Given the description of an element on the screen output the (x, y) to click on. 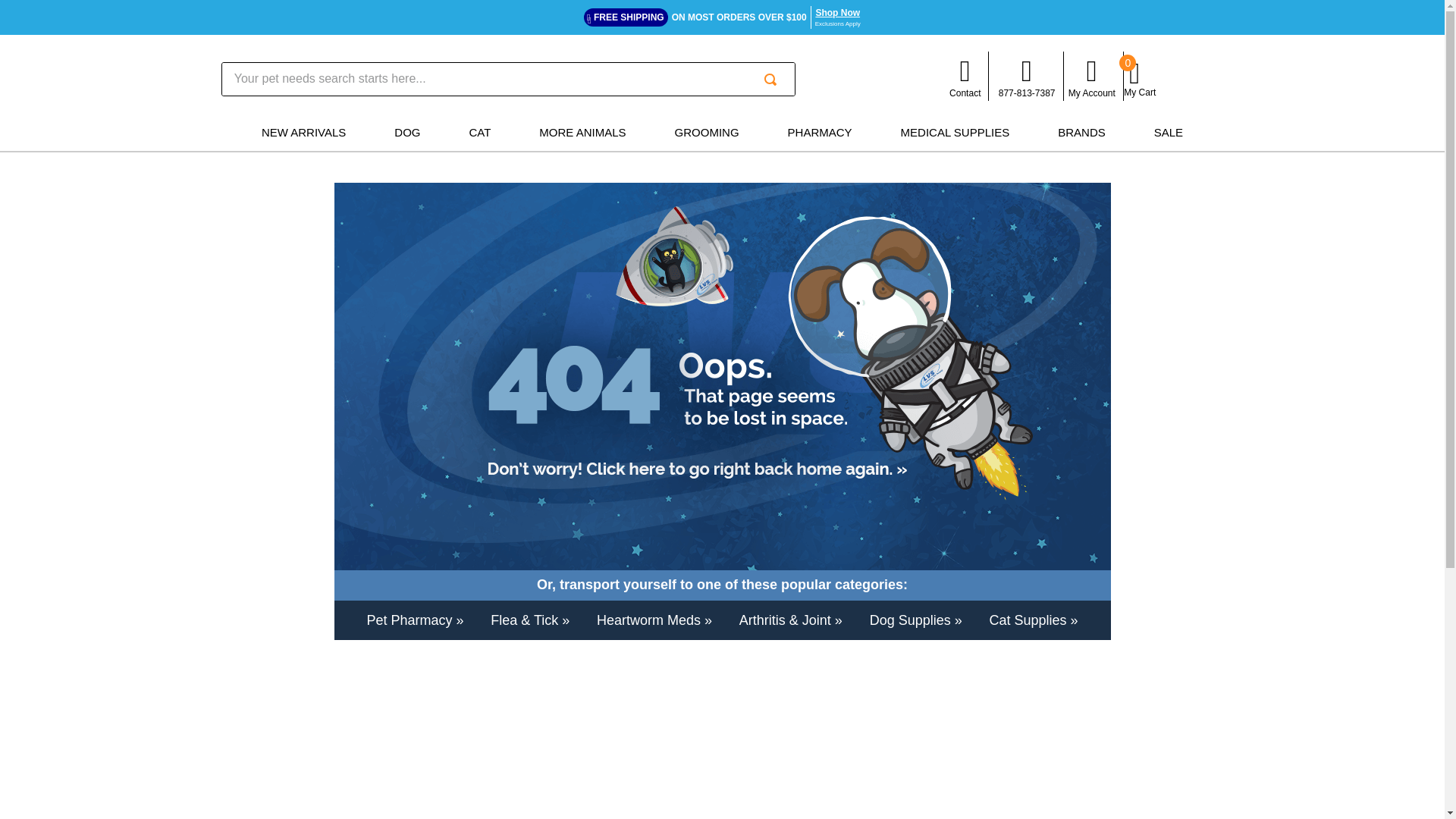
My Account (1091, 75)
Shop Now (837, 12)
NEW ARRIVALS (304, 132)
877-813-7387 (1026, 75)
MORE ANIMALS (582, 132)
CAT (479, 132)
DOG (407, 132)
PHARMACY (819, 132)
GROOMING (707, 132)
BRANDS (1081, 132)
SALE (1168, 132)
MEDICAL SUPPLIES (955, 132)
